Given the description of an element on the screen output the (x, y) to click on. 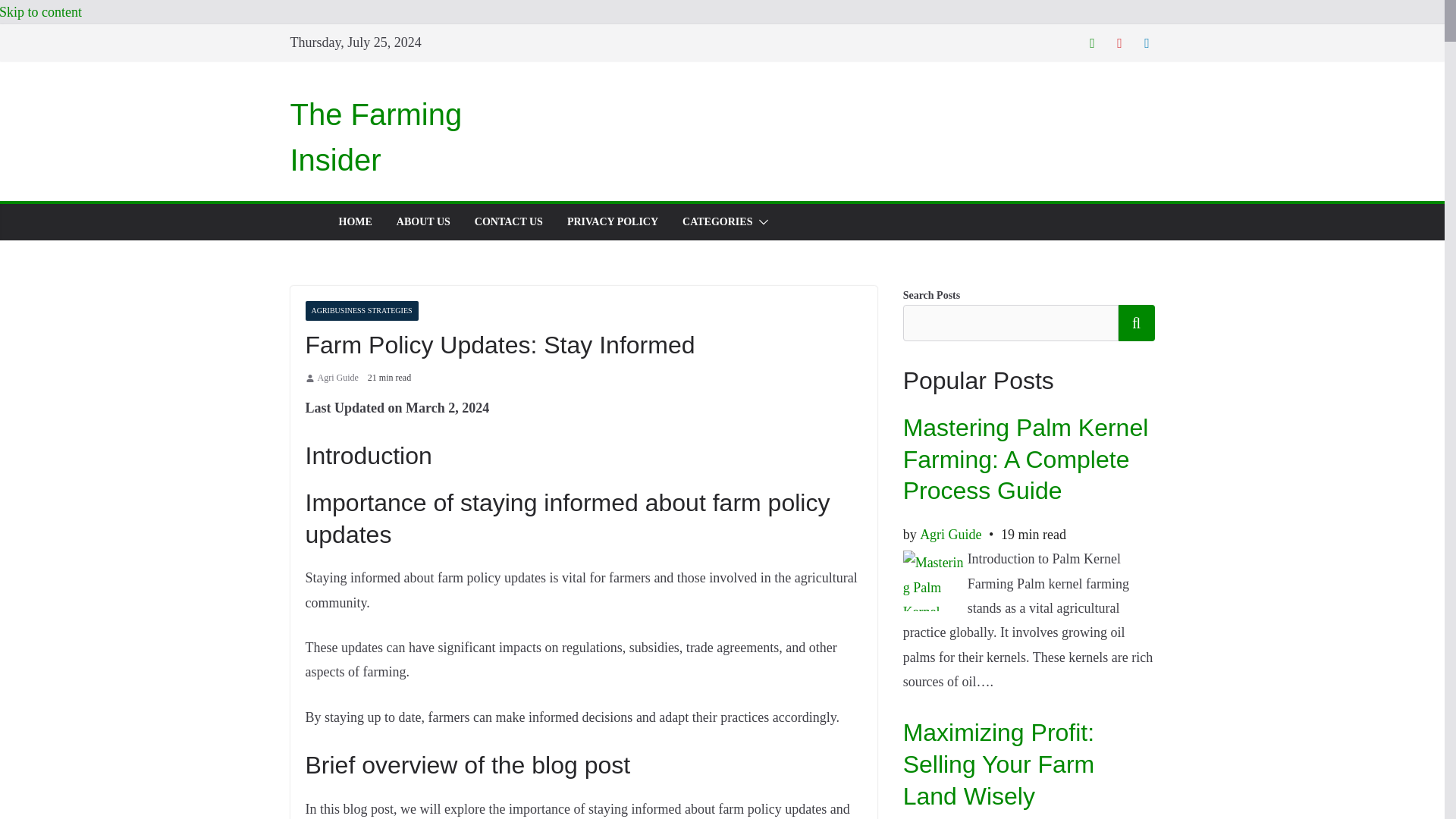
PRIVACY POLICY (612, 221)
Twitter (1091, 43)
ABOUT US (422, 221)
Skip to content (40, 11)
Pinterest (1119, 43)
CATEGORIES (717, 221)
The Farming Insider (375, 136)
AGRIBUSINESS STRATEGIES (360, 311)
LinkedIn (1146, 43)
The Farming Insider (375, 136)
HOME (354, 221)
Agri Guide (337, 378)
Agri Guide (337, 378)
CONTACT US (508, 221)
